Given the description of an element on the screen output the (x, y) to click on. 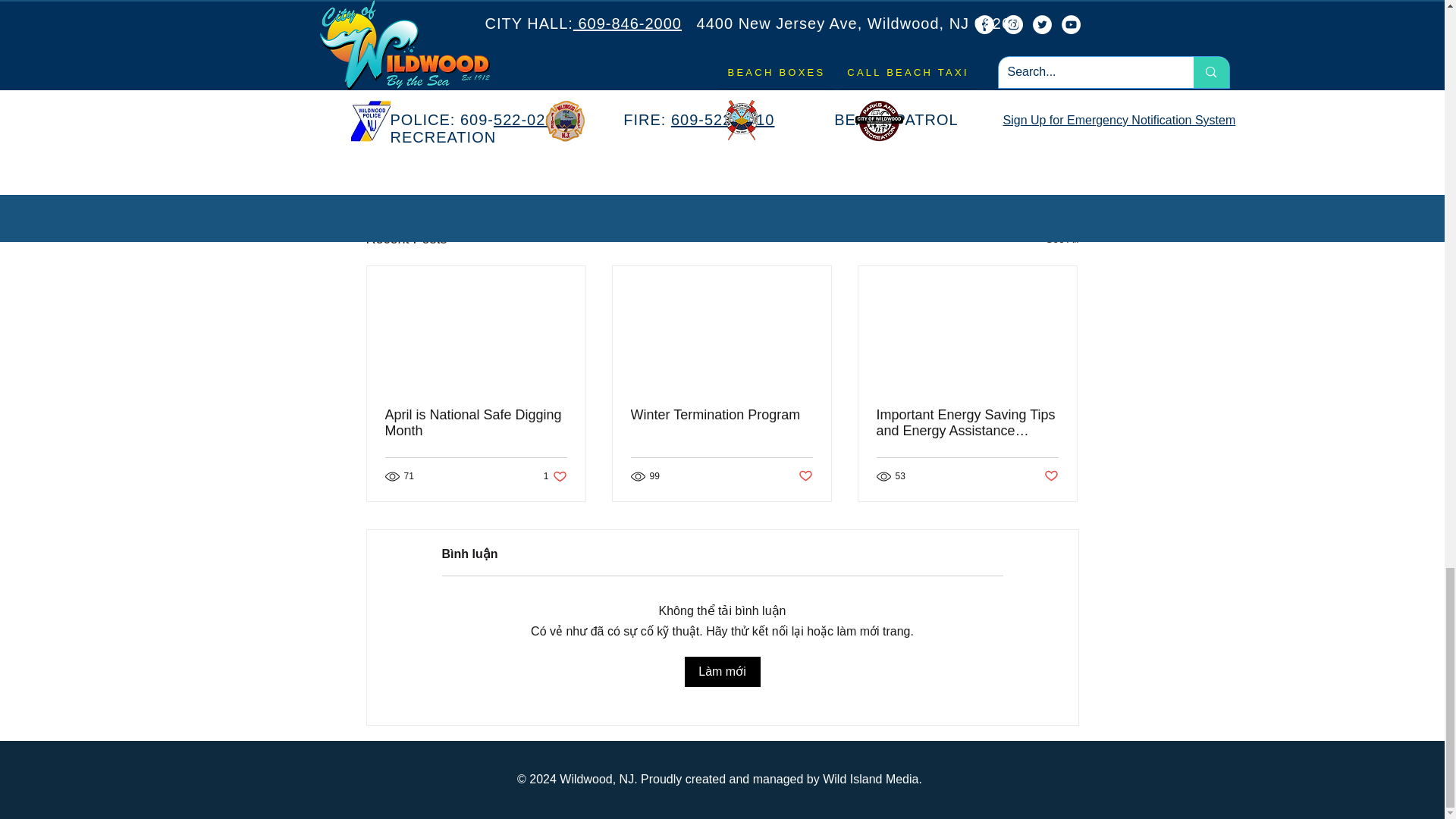
Blog (992, 110)
See All (990, 156)
